Given the description of an element on the screen output the (x, y) to click on. 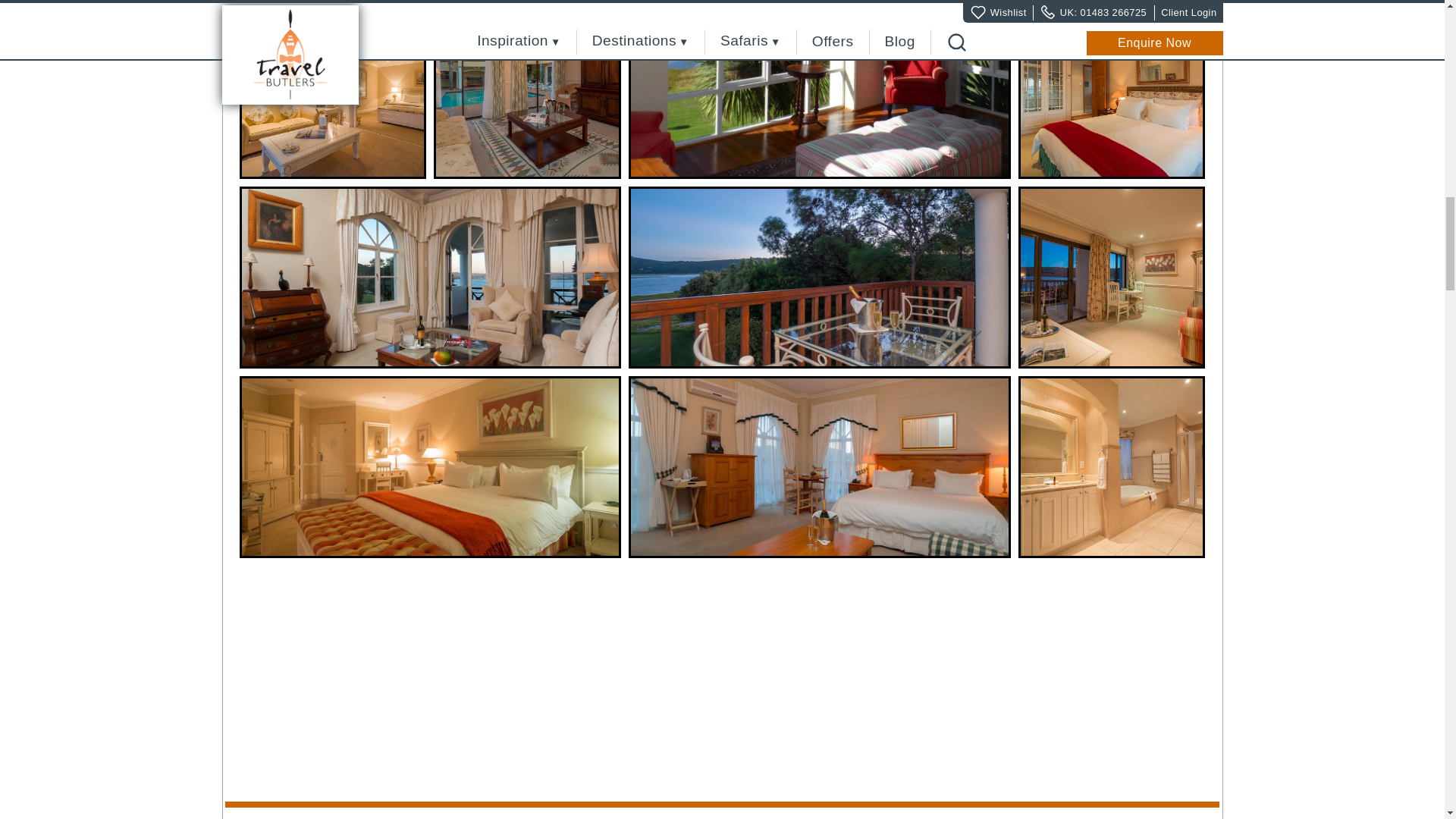
Deluxe Suite Bedroom (1111, 89)
Superior Suite Lounge (333, 89)
Junior Suite Lounge (527, 89)
Lounge View (819, 89)
Lady Anne Suite (430, 277)
